Given the description of an element on the screen output the (x, y) to click on. 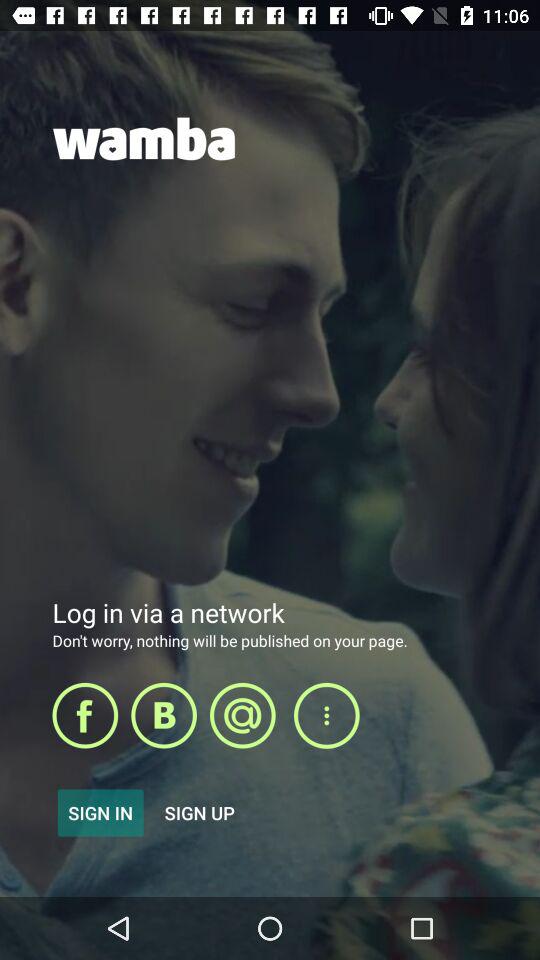
click to facebook option (85, 715)
